Given the description of an element on the screen output the (x, y) to click on. 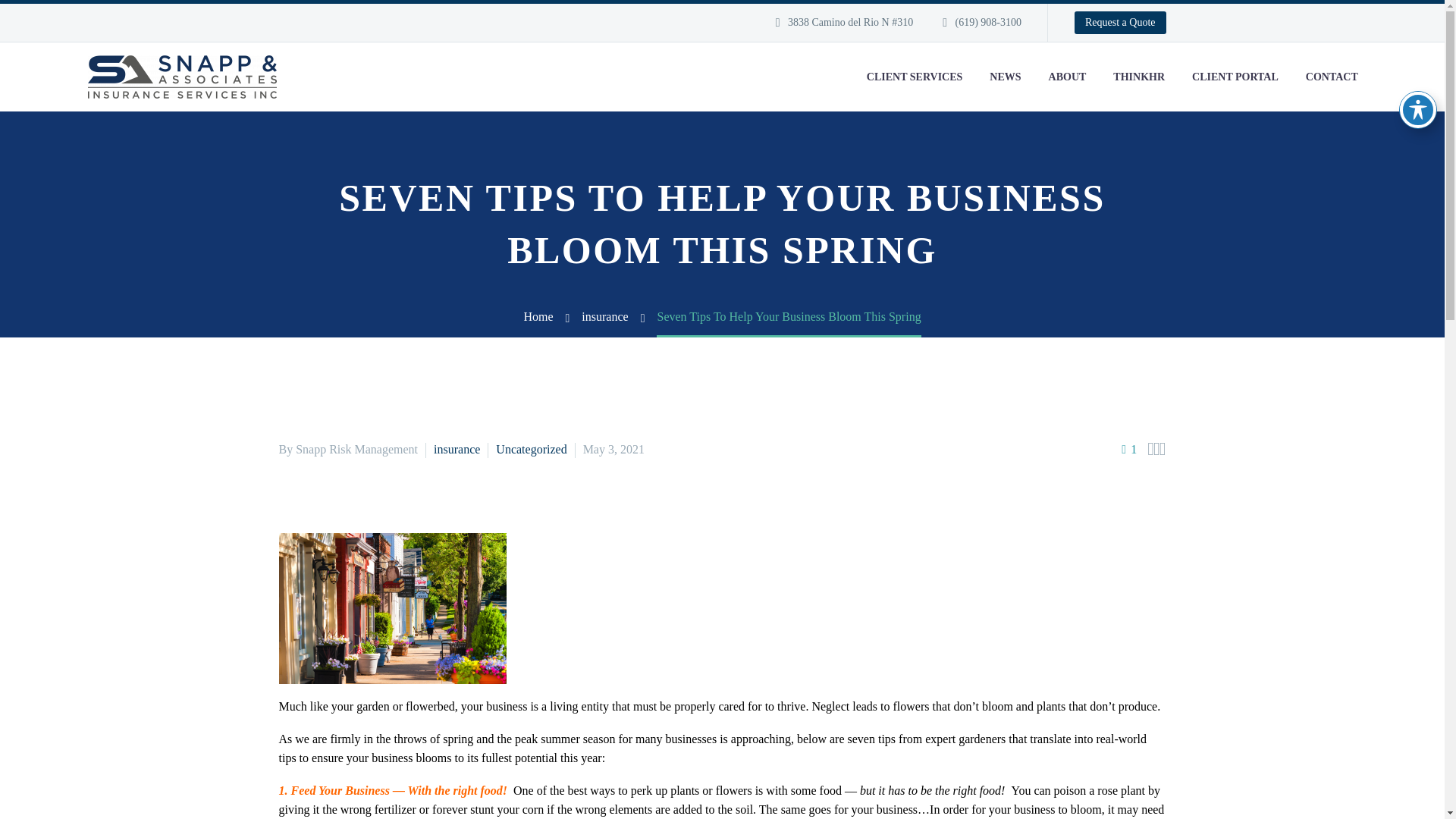
CLIENT SERVICES (915, 76)
View all posts in Uncategorized (531, 449)
View all posts in insurance (456, 449)
Request a Quote (1120, 22)
